Given the description of an element on the screen output the (x, y) to click on. 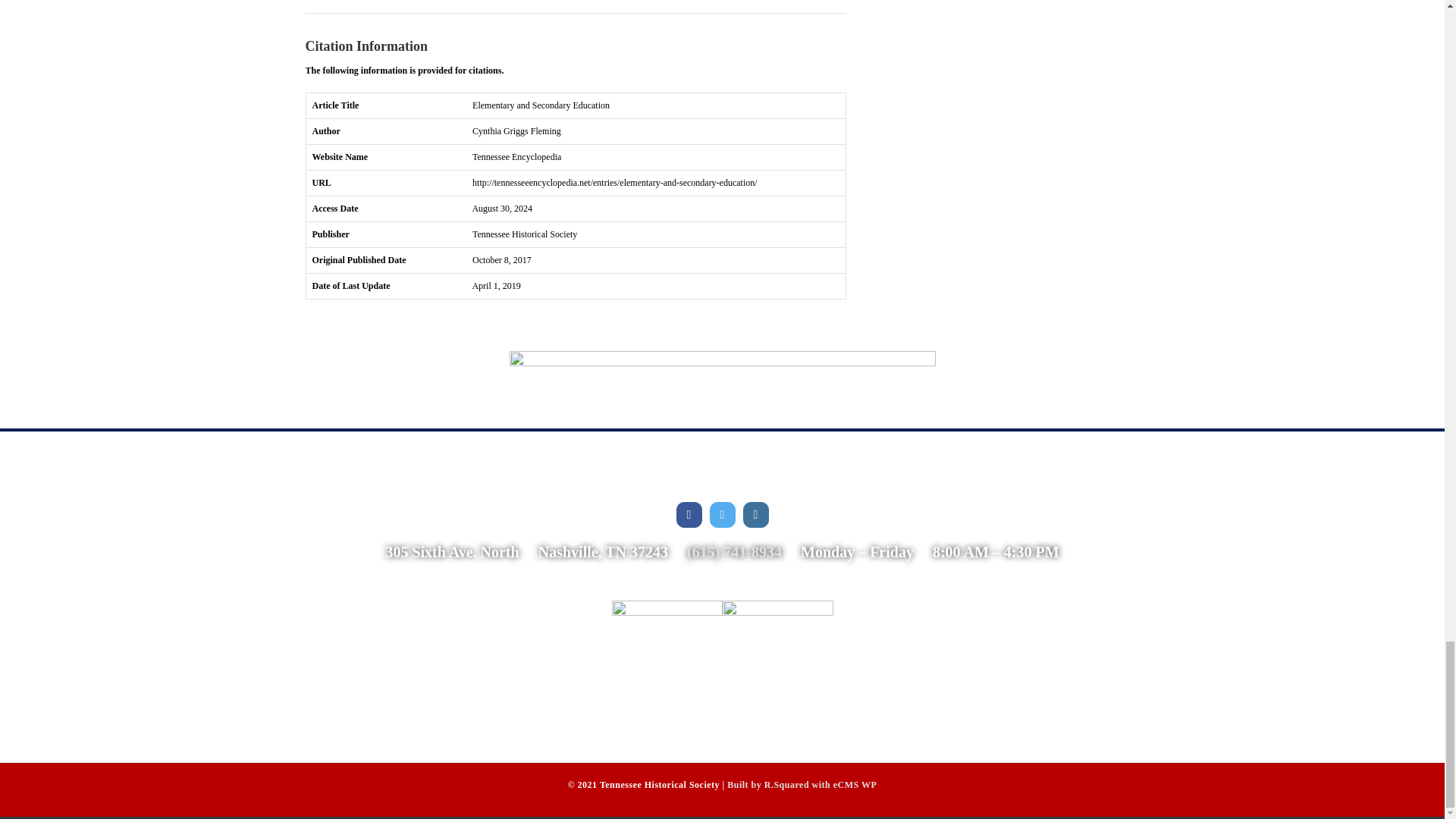
Twitter (722, 514)
Facebook (689, 514)
Instagram (755, 514)
